Given the description of an element on the screen output the (x, y) to click on. 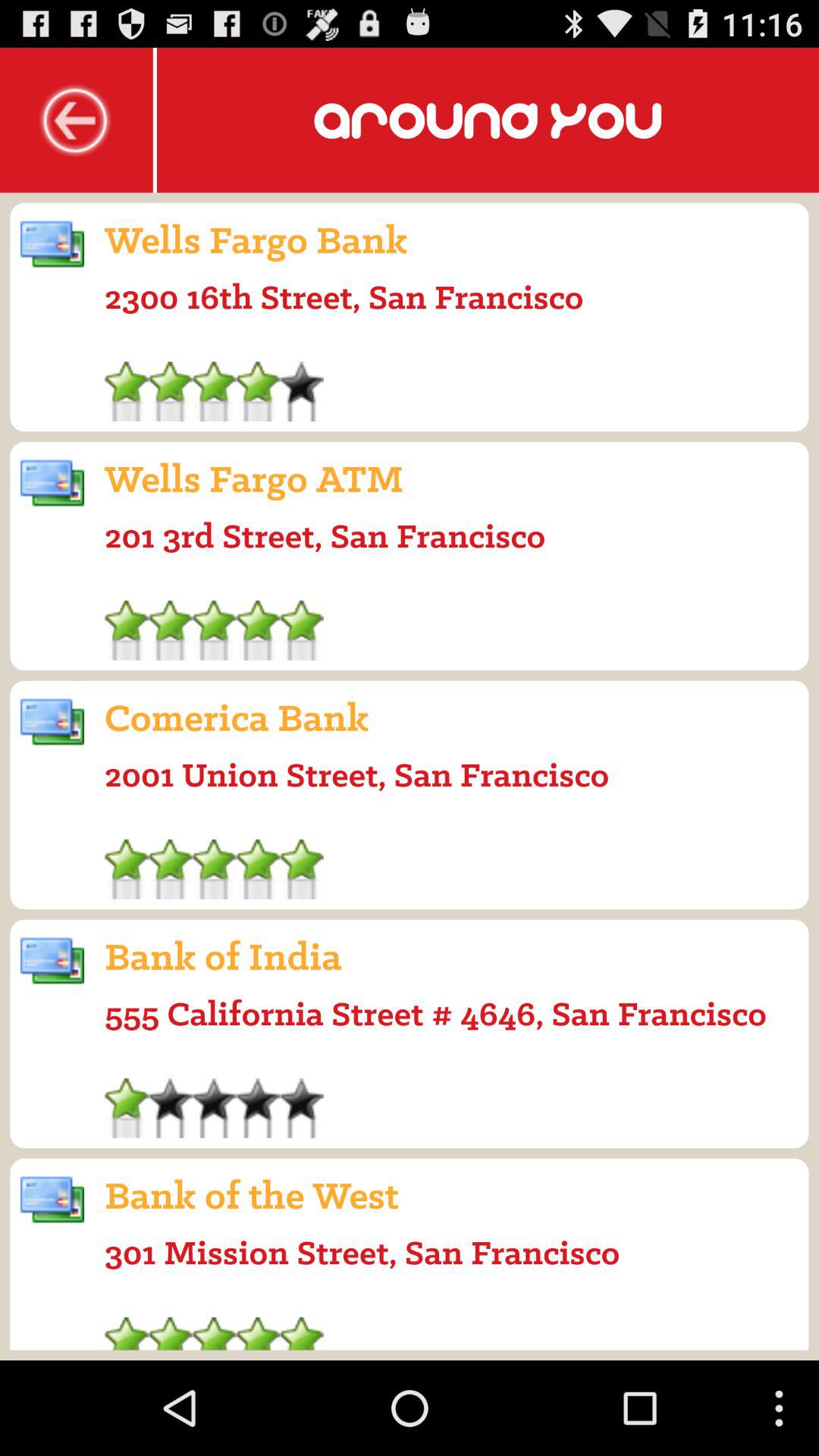
press app above 2001 union street icon (236, 717)
